Given the description of an element on the screen output the (x, y) to click on. 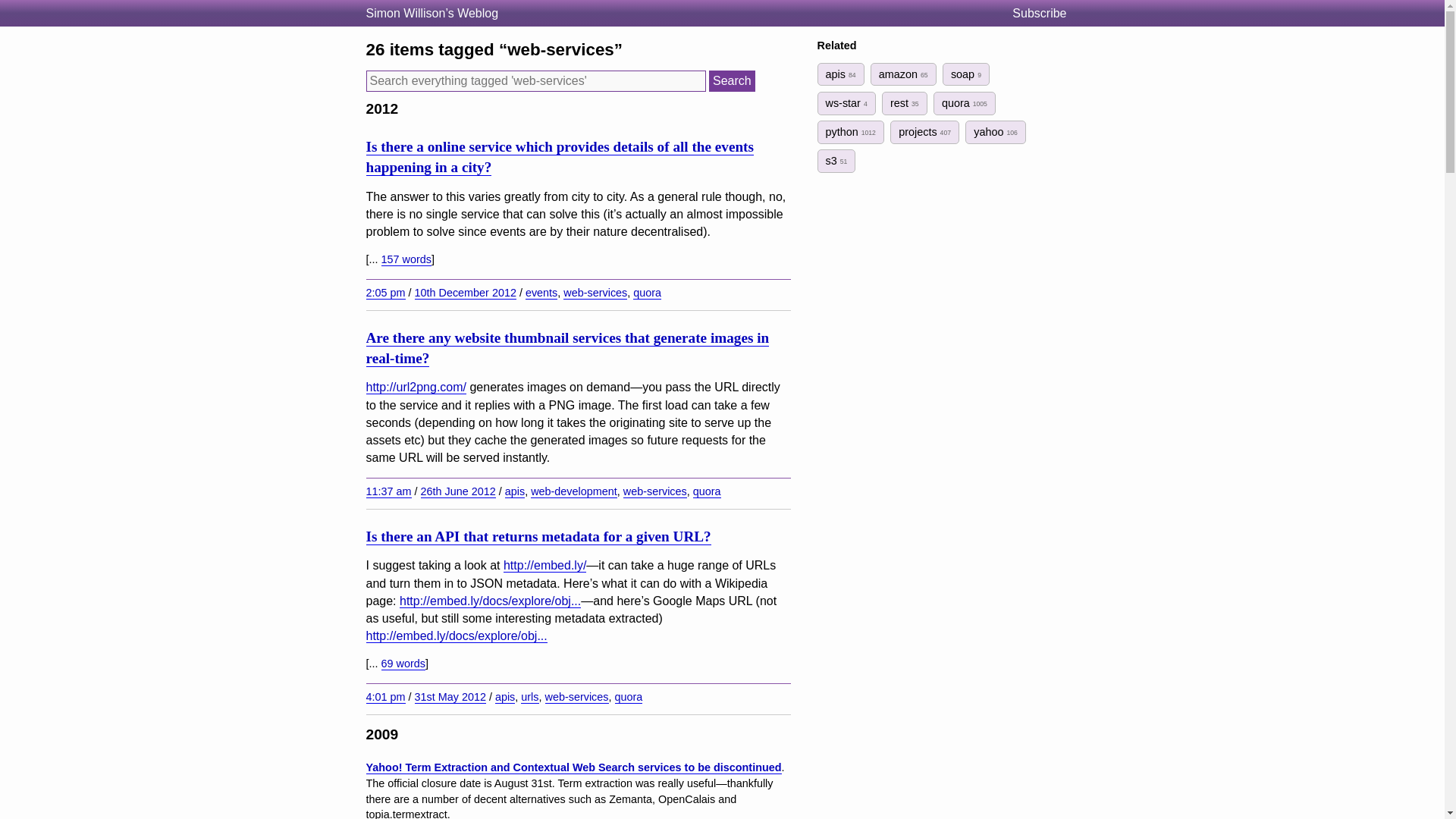
quora (647, 292)
2:05 pm (384, 292)
Subscribe (1044, 13)
157 words (405, 259)
urls (529, 697)
69 words (402, 663)
Search (732, 80)
web-services (655, 491)
quora (628, 697)
